Given the description of an element on the screen output the (x, y) to click on. 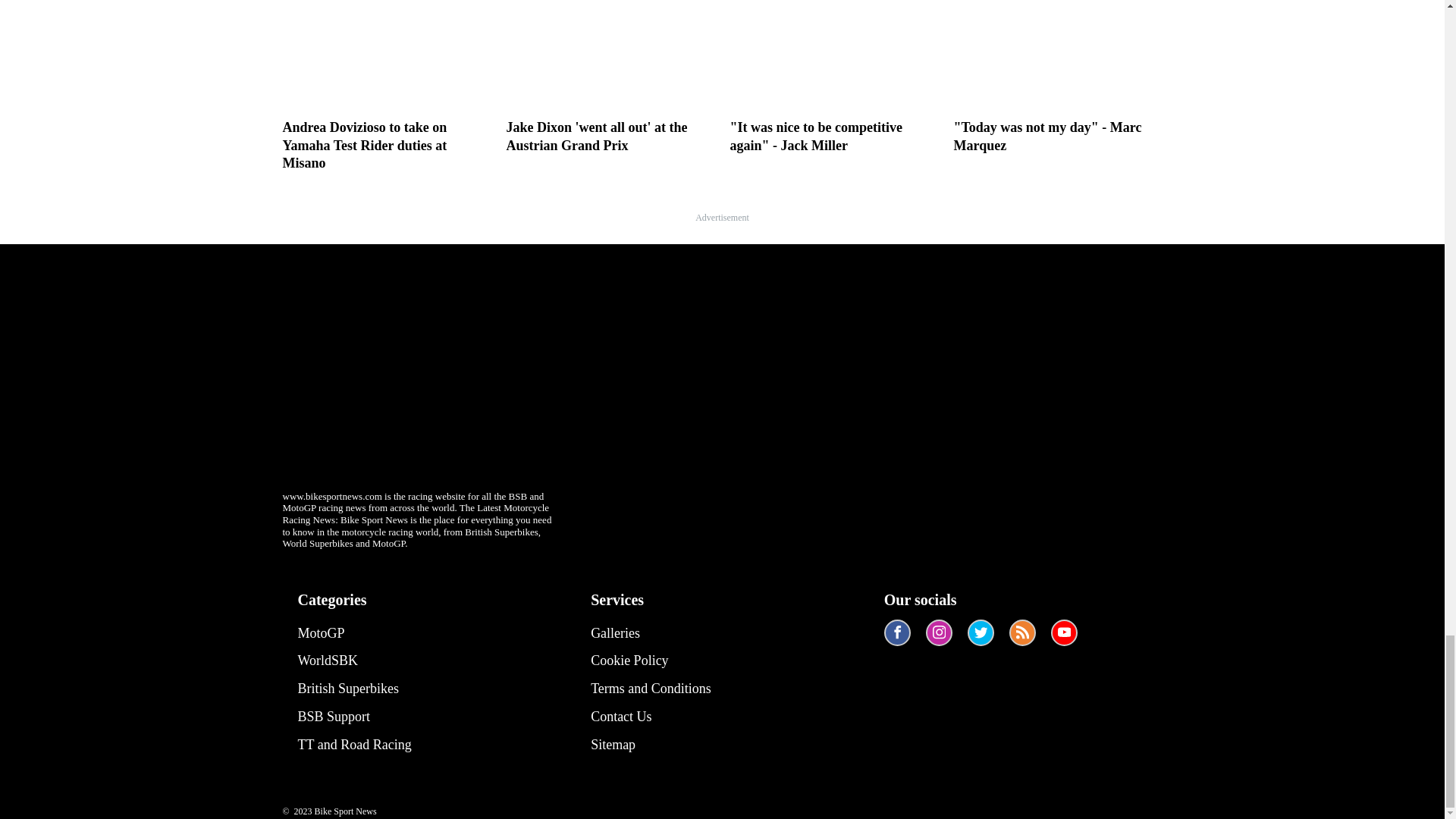
"Today was not my day" - Marc Marquez (1057, 77)
Jake Dixon 'went all out' at the Austrian Grand Prix (610, 77)
"It was nice to be competitive again" - Jack Miller (833, 77)
